Given the description of an element on the screen output the (x, y) to click on. 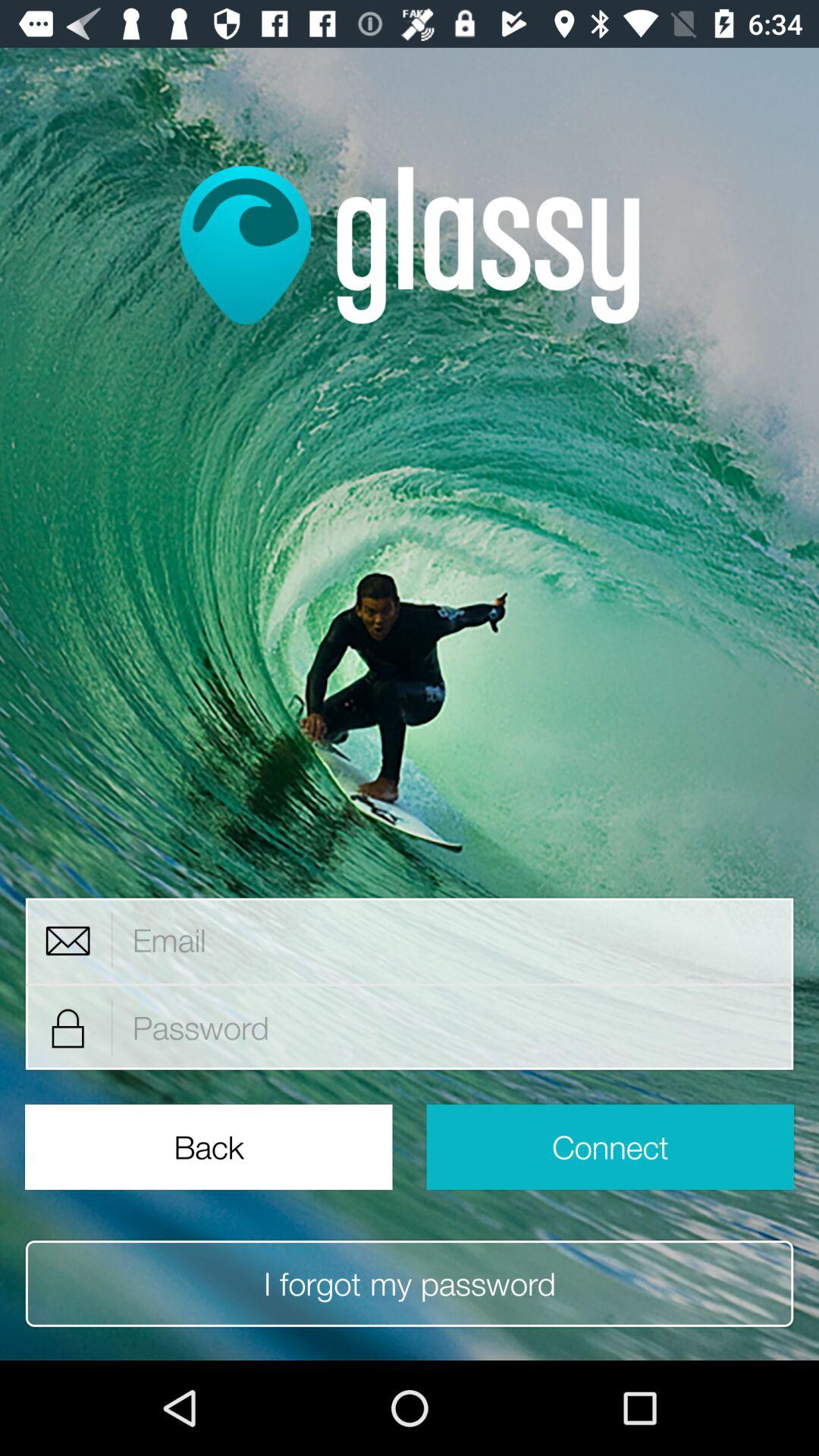
swipe to connect item (609, 1146)
